Given the description of an element on the screen output the (x, y) to click on. 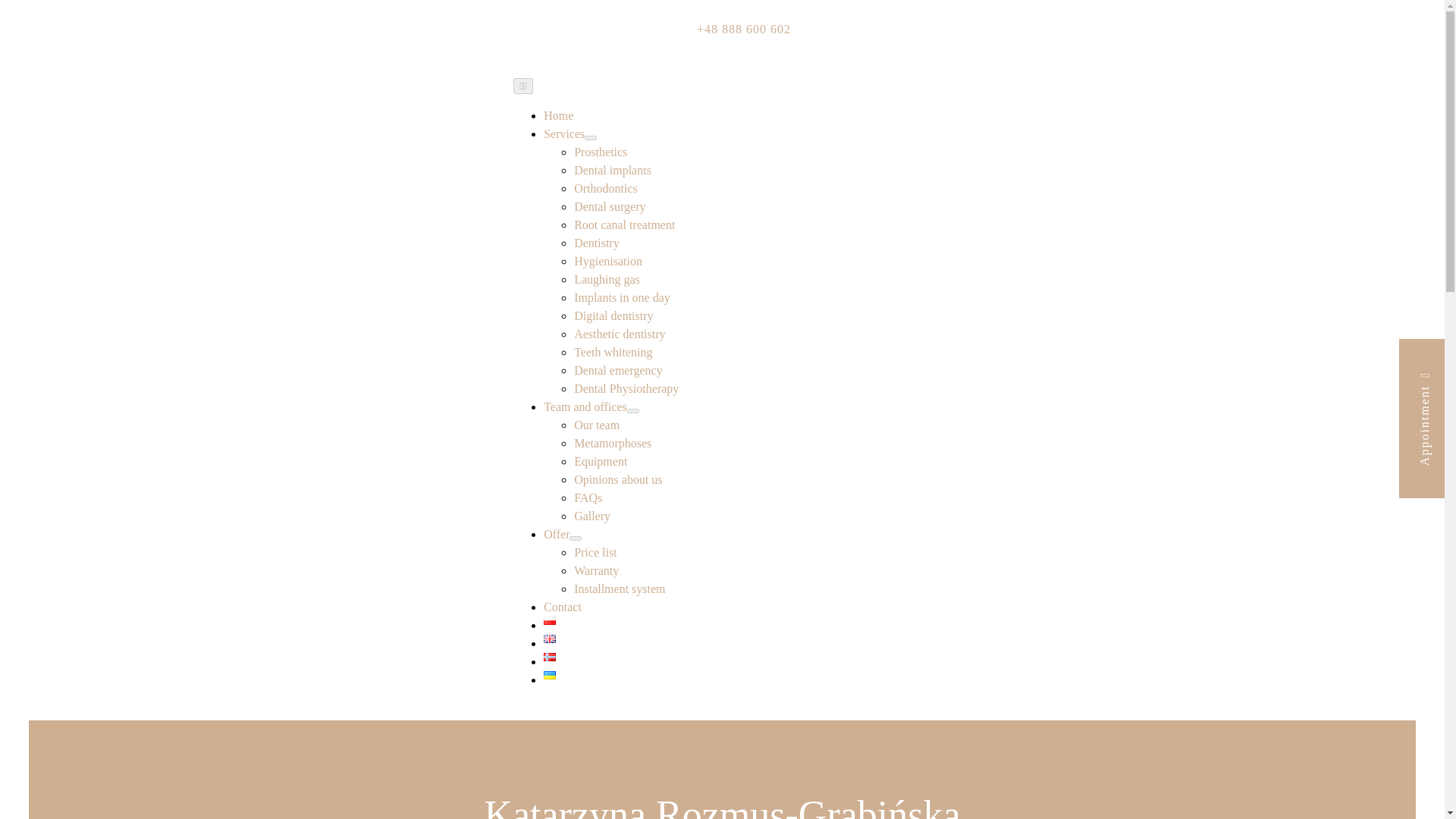
Offer (556, 533)
Metamorphoses (611, 442)
Dental Physiotherapy (625, 388)
Equipment (600, 461)
Services (564, 133)
Price list (594, 552)
Team and offices (585, 406)
Dental surgery (609, 205)
Dentistry (596, 242)
Our team (596, 424)
Gallery (591, 515)
Teeth whitening (612, 351)
FAQs (587, 497)
Aesthetic dentistry (619, 333)
Toggle Navigation (522, 85)
